Given the description of an element on the screen output the (x, y) to click on. 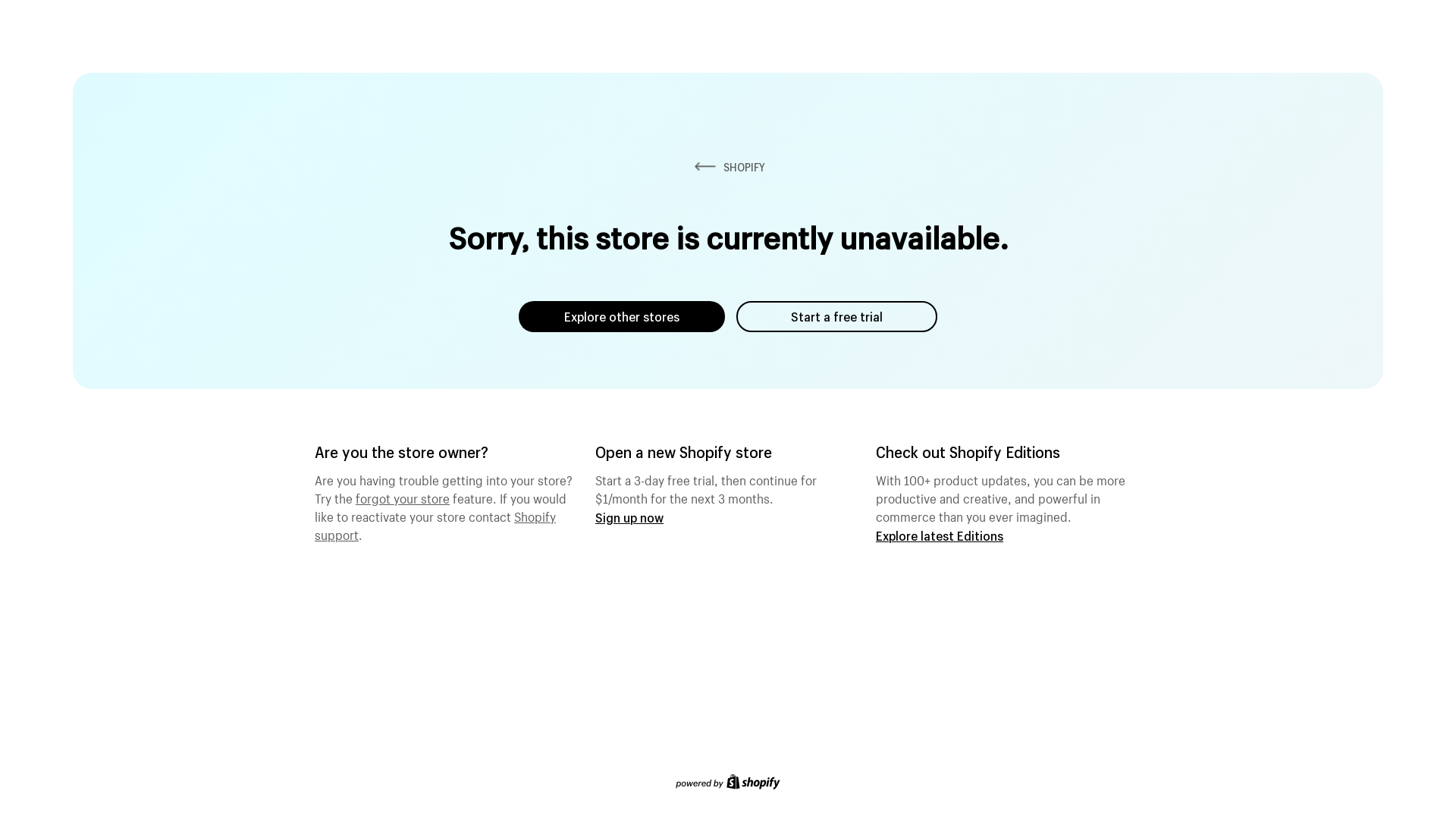
Start a free trial Element type: text (836, 316)
Shopify support Element type: text (434, 523)
forgot your store Element type: text (402, 496)
SHOPIFY Element type: text (727, 167)
Explore other stores Element type: text (621, 316)
Explore latest Editions Element type: text (939, 535)
Sign up now Element type: text (629, 517)
